Given the description of an element on the screen output the (x, y) to click on. 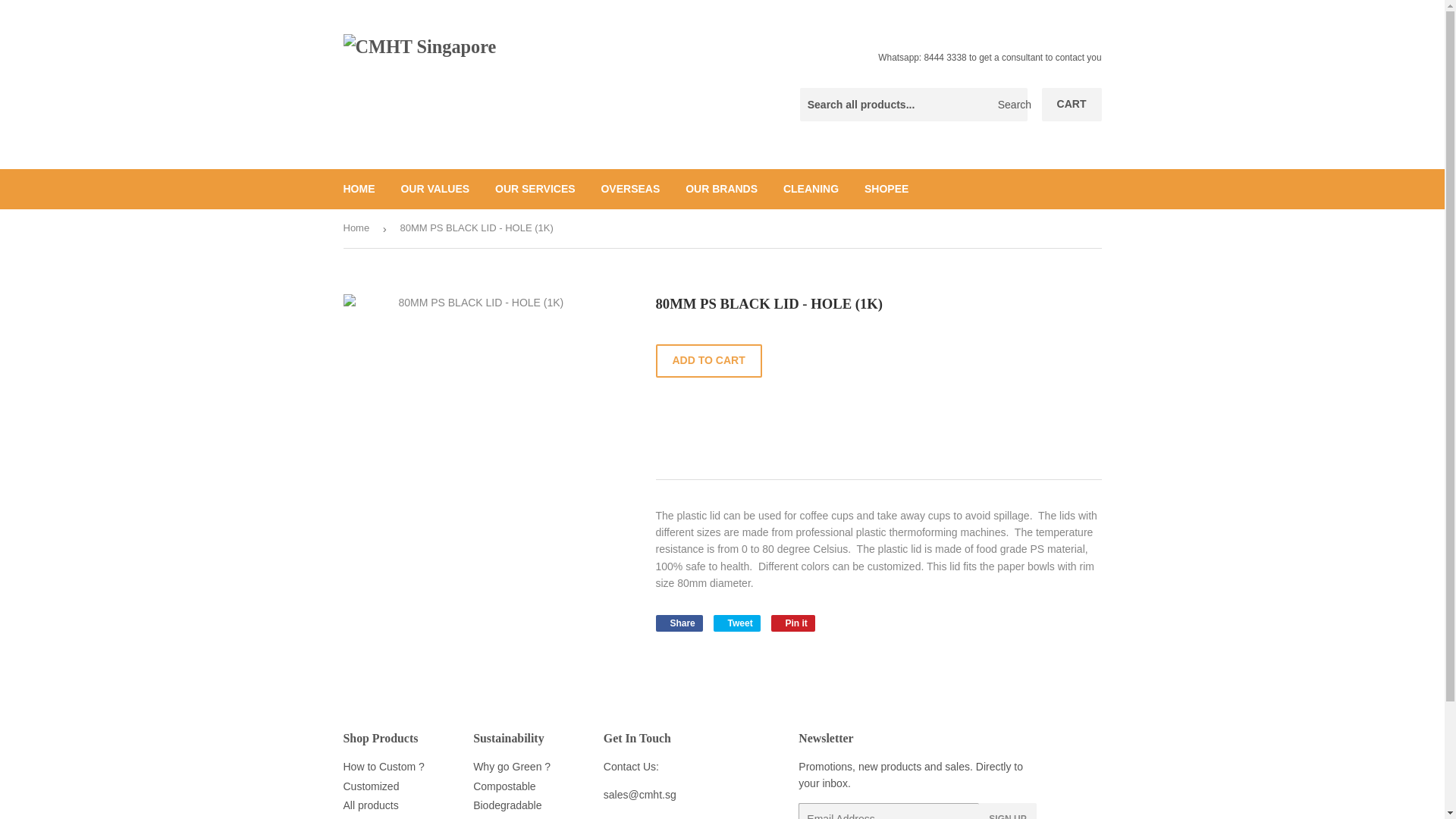
Home (358, 228)
SHOPEE (886, 188)
Compostable (504, 786)
How to Custom ? (382, 766)
Search (1009, 105)
SIGN UP (1006, 811)
OUR BRANDS (736, 622)
Why go Green ? (721, 188)
Pin on Pinterest (511, 766)
ADD TO CART (793, 622)
HOME (708, 360)
CART (793, 622)
Biodegradable (359, 188)
